Given the description of an element on the screen output the (x, y) to click on. 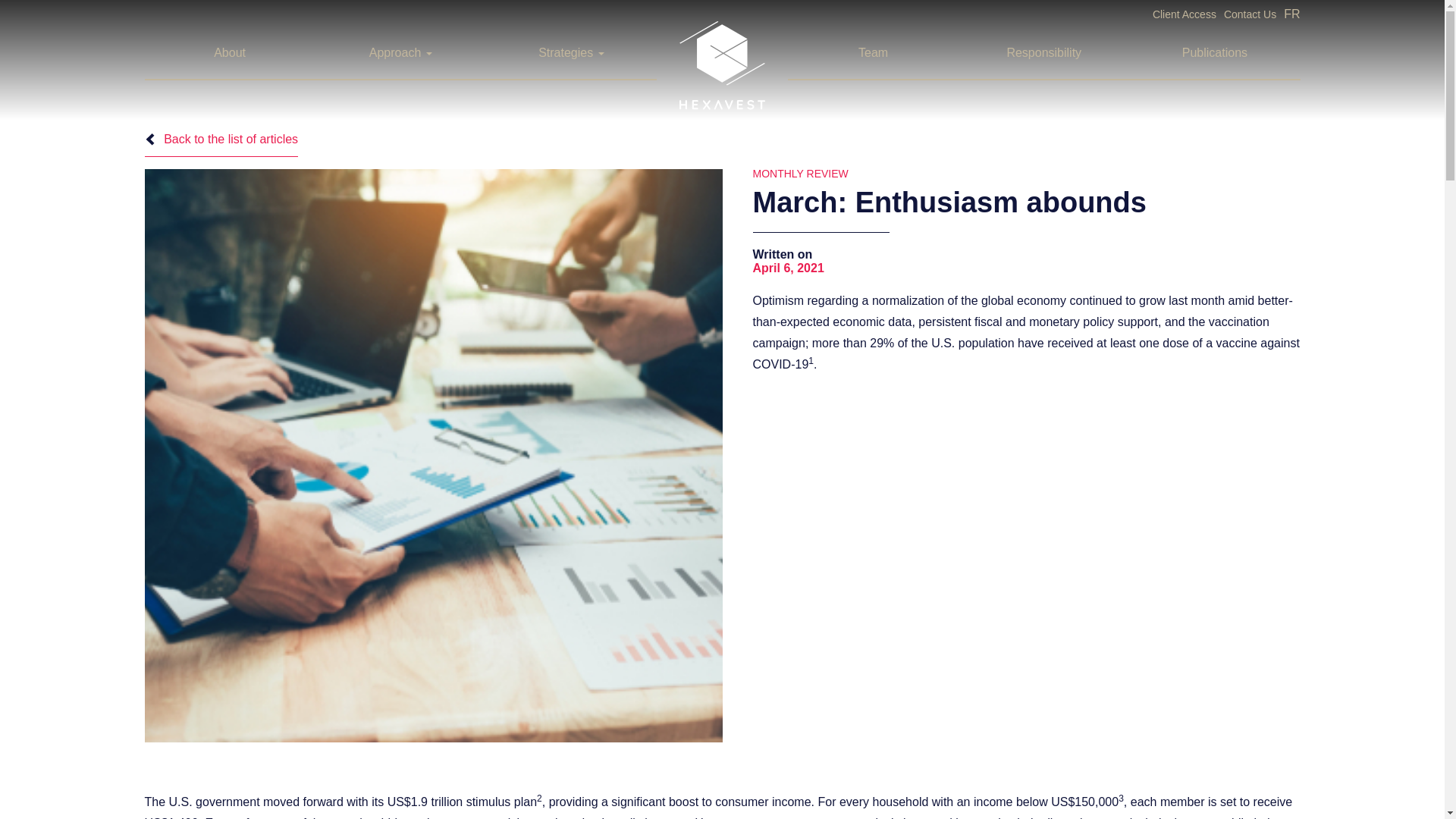
Team (873, 51)
Strategies (565, 51)
Back to the list of articles (221, 144)
Contact Us (1250, 14)
Publications (1214, 51)
About (230, 51)
Approach (395, 51)
FR (1292, 14)
Client Access (1184, 14)
Responsibility (1043, 51)
